Given the description of an element on the screen output the (x, y) to click on. 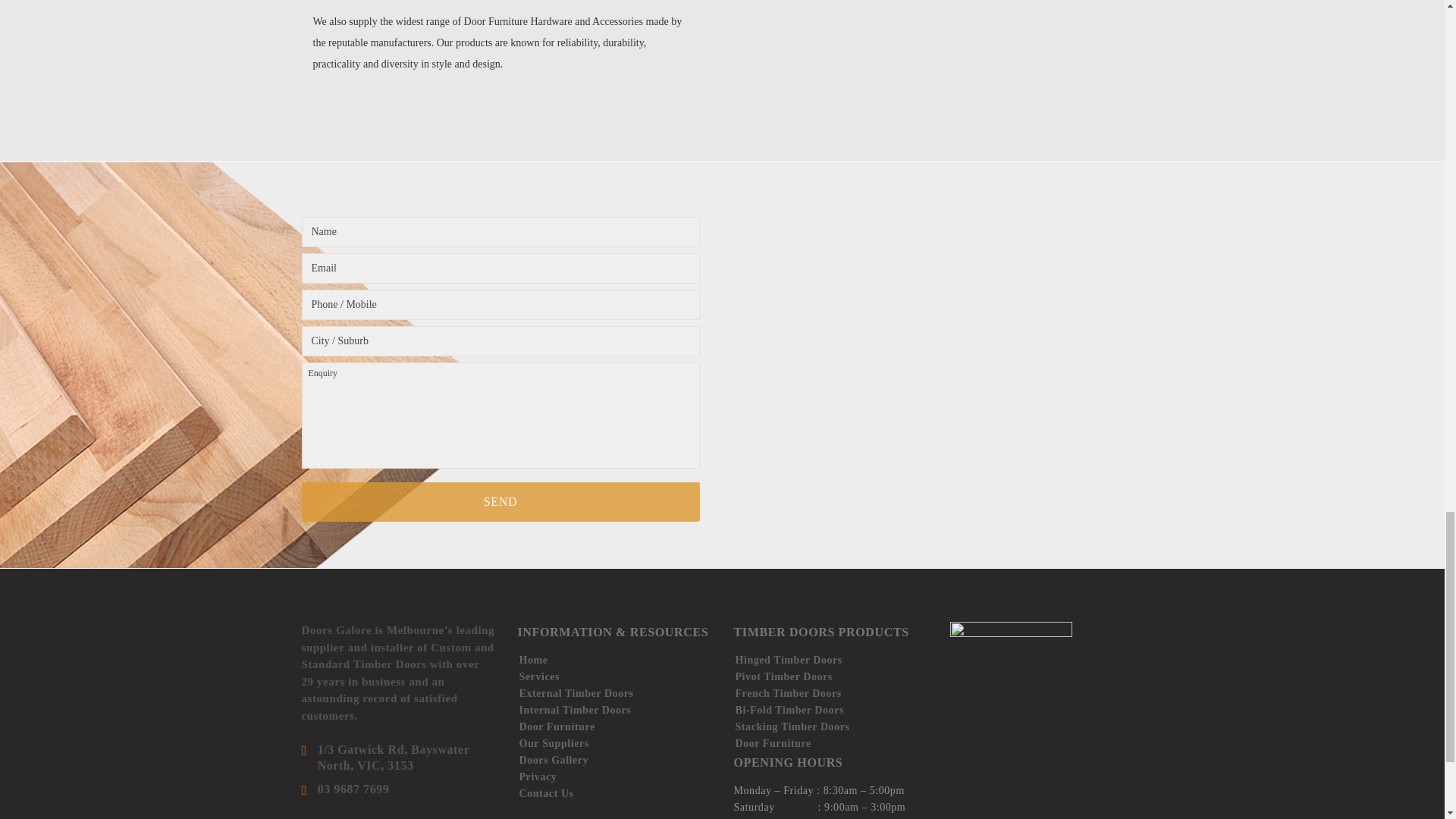
Services (538, 676)
External Timber Doors (575, 693)
SEND (500, 501)
SEND (500, 501)
Home (532, 659)
